Given the description of an element on the screen output the (x, y) to click on. 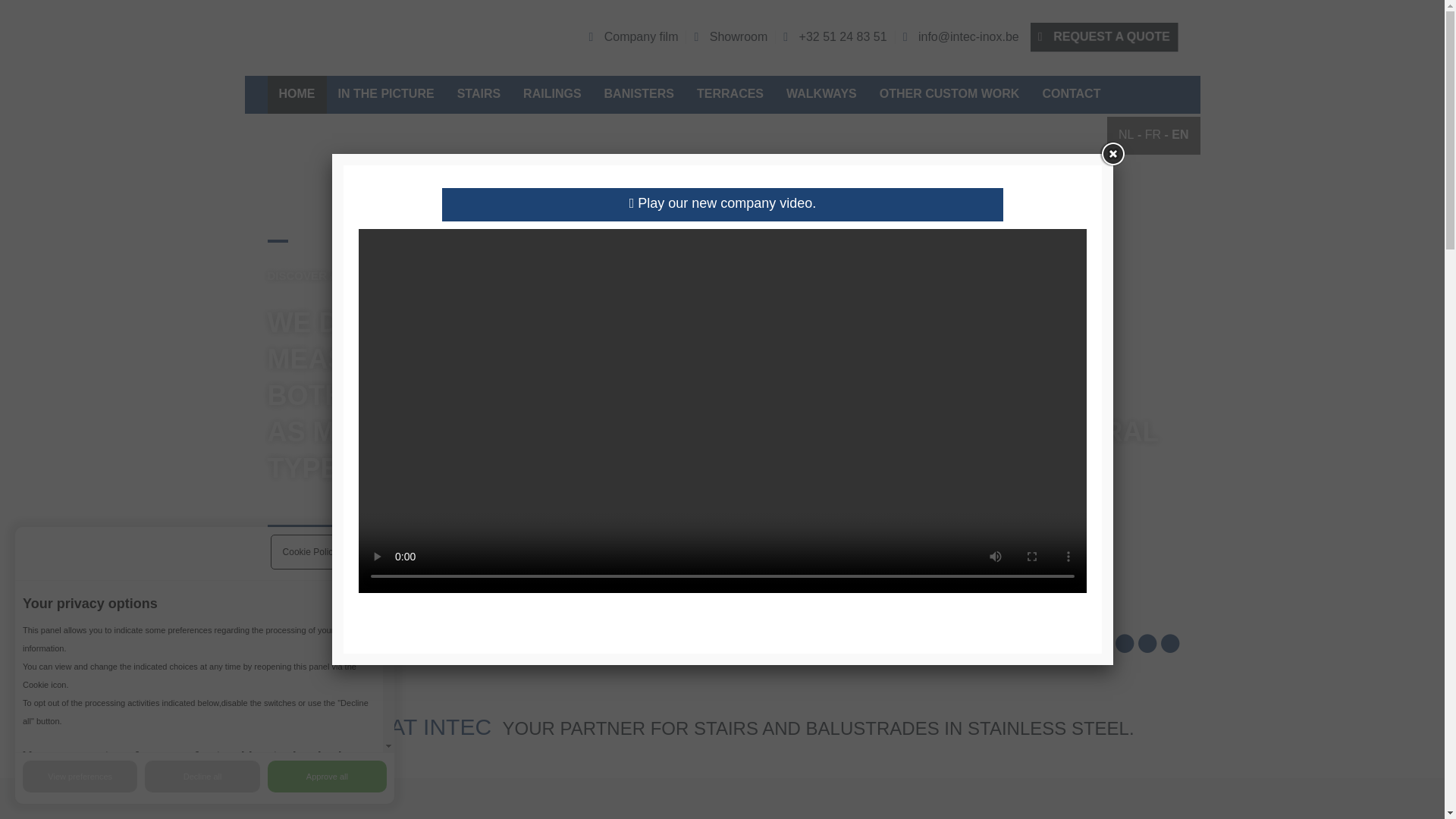
Stairs (478, 94)
HOME (296, 94)
BANISTERS (638, 94)
WALKWAYS (820, 94)
NL (1126, 133)
Home (296, 94)
FR (1152, 133)
STAIRS (478, 94)
OTHER CUSTOM WORK (948, 94)
CONTACT (1071, 94)
